Given the description of an element on the screen output the (x, y) to click on. 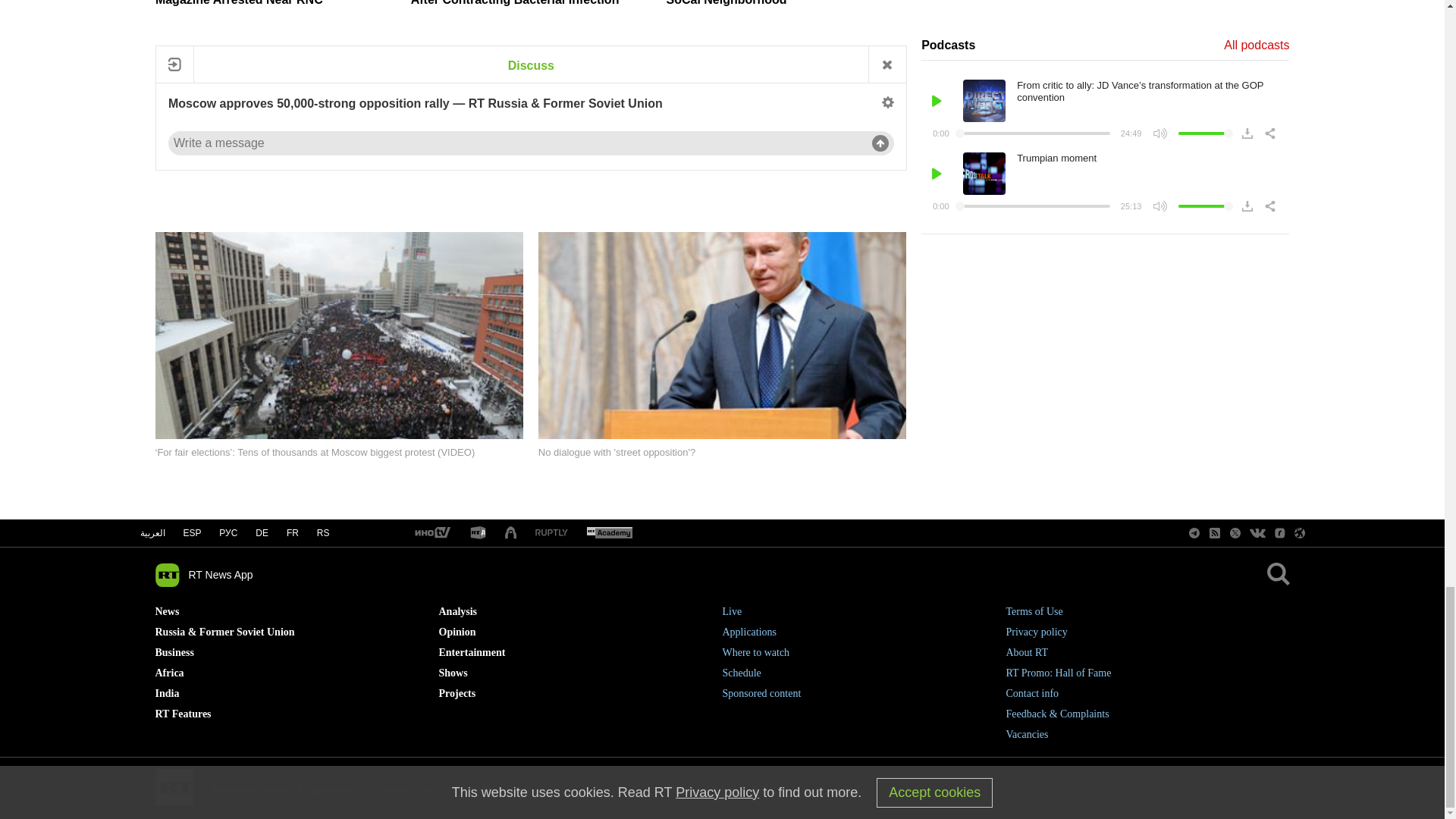
RT  (431, 533)
RT  (551, 533)
RT  (608, 533)
RT  (478, 533)
